Given the description of an element on the screen output the (x, y) to click on. 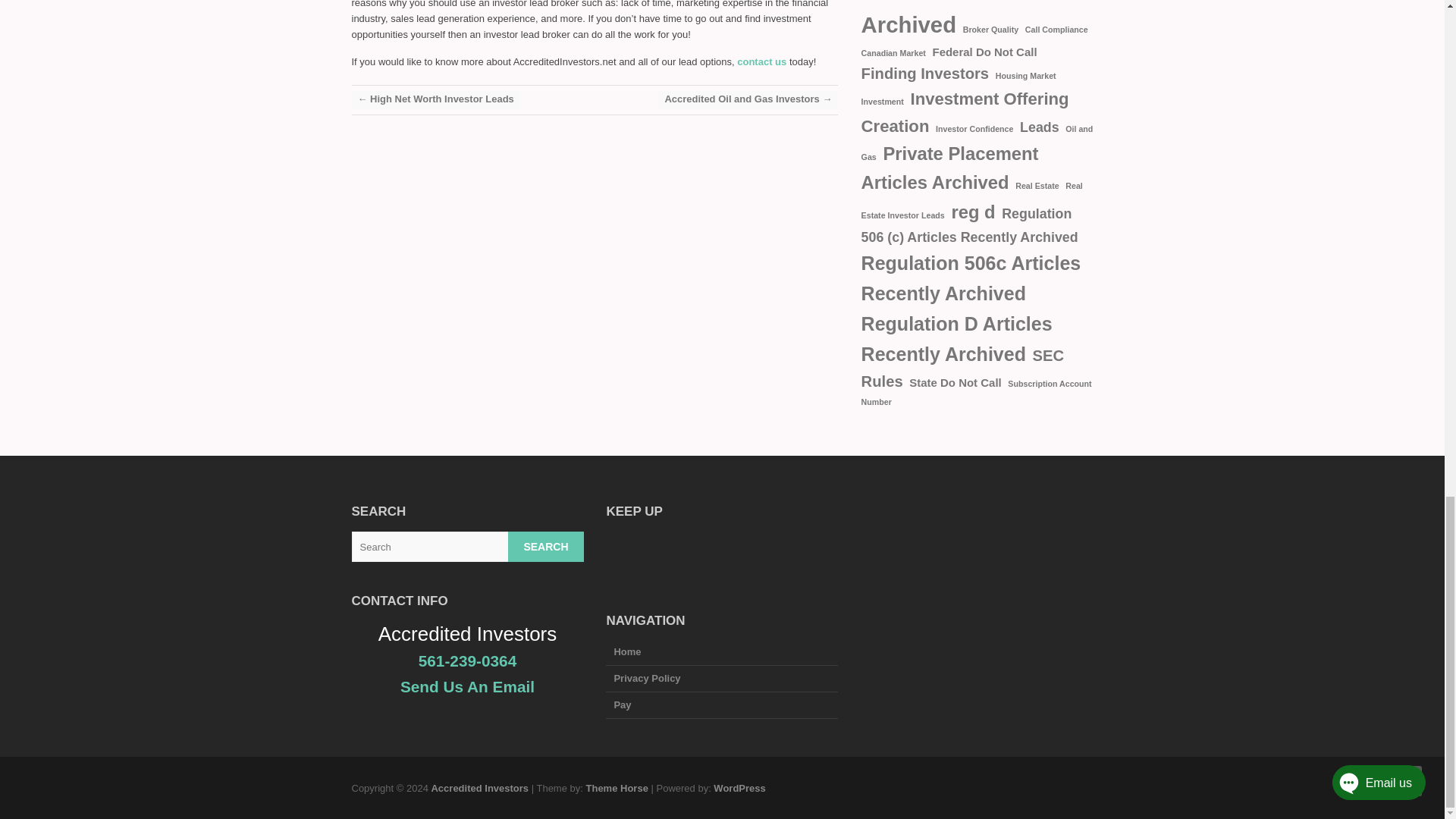
Search (545, 546)
contact us (762, 61)
Accredited Investors (479, 787)
Search (545, 546)
WordPress (739, 787)
Theme Horse (616, 787)
